Given the description of an element on the screen output the (x, y) to click on. 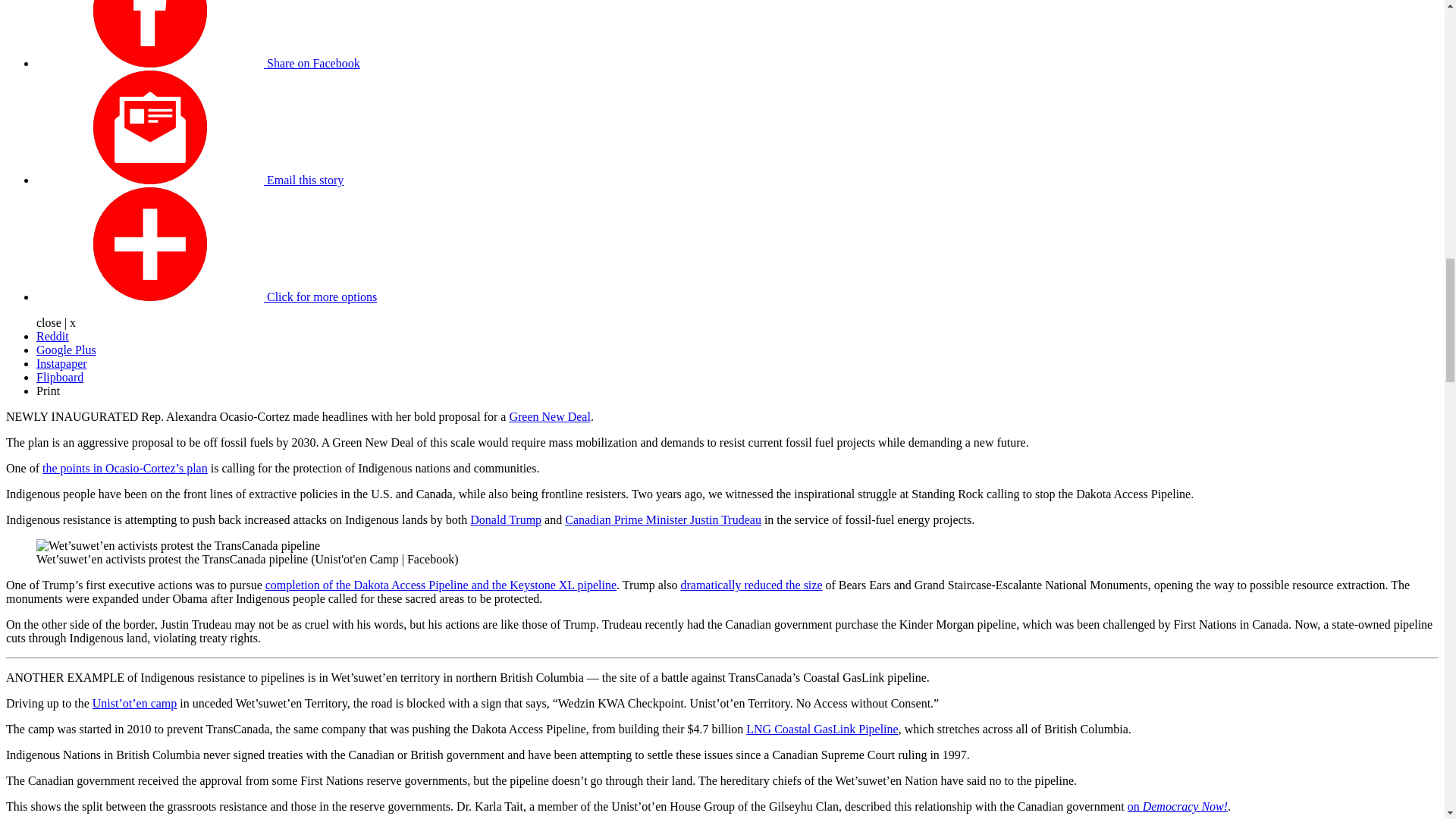
Email this story (189, 179)
Share on Facebook (197, 62)
Reddit (52, 336)
Print (47, 390)
Click for more options (206, 296)
Instapaper (61, 363)
Flipboard (59, 377)
Google Plus (66, 349)
